Given the description of an element on the screen output the (x, y) to click on. 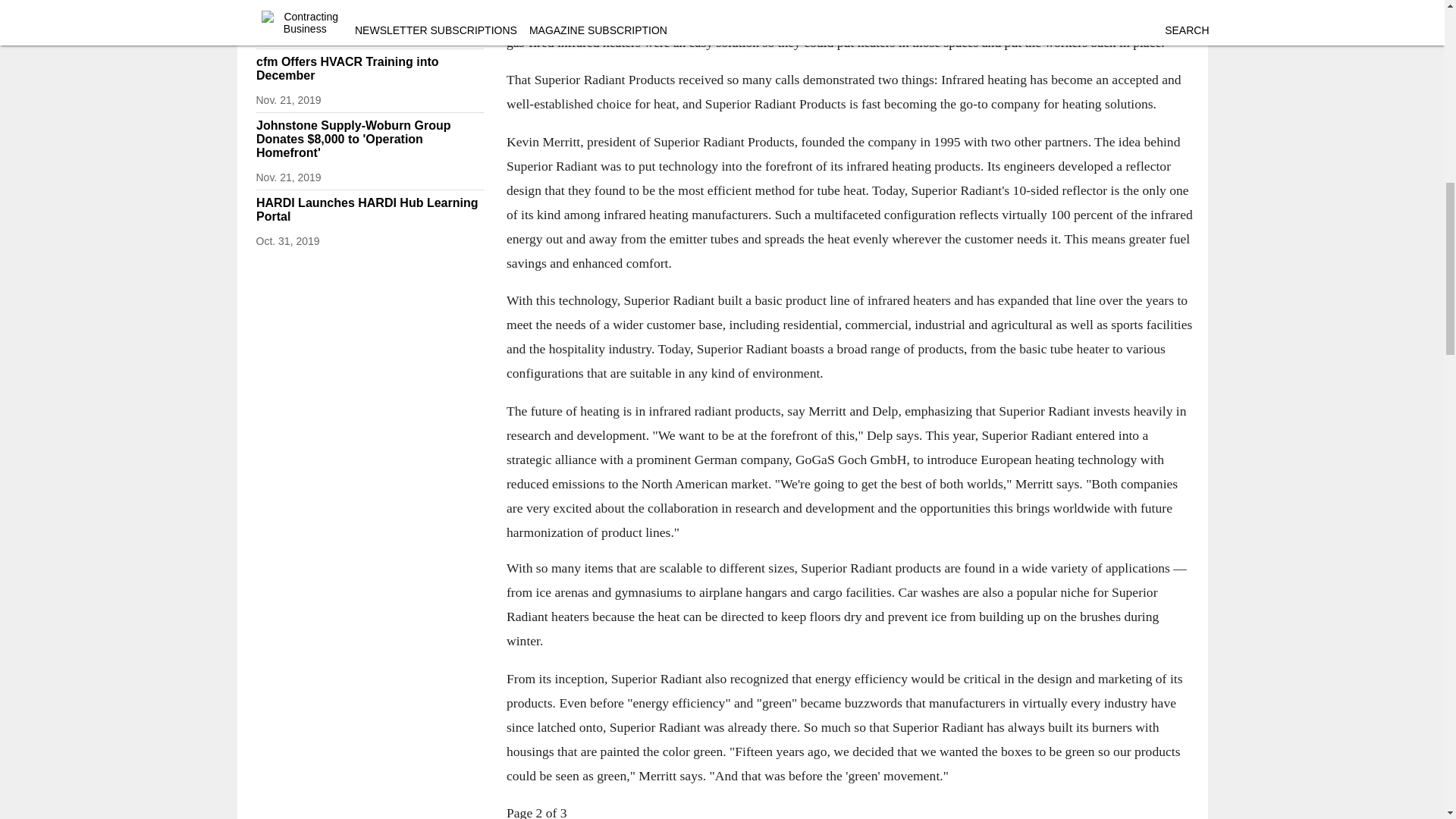
Frigidaire Heat Pump (307, 17)
Nortek Global HVAC Names Distributor for DFW Metro (424, 9)
HARDI Launches HARDI Hub Learning Portal (369, 209)
cfm Offers HVACR Training into December (369, 68)
